Given the description of an element on the screen output the (x, y) to click on. 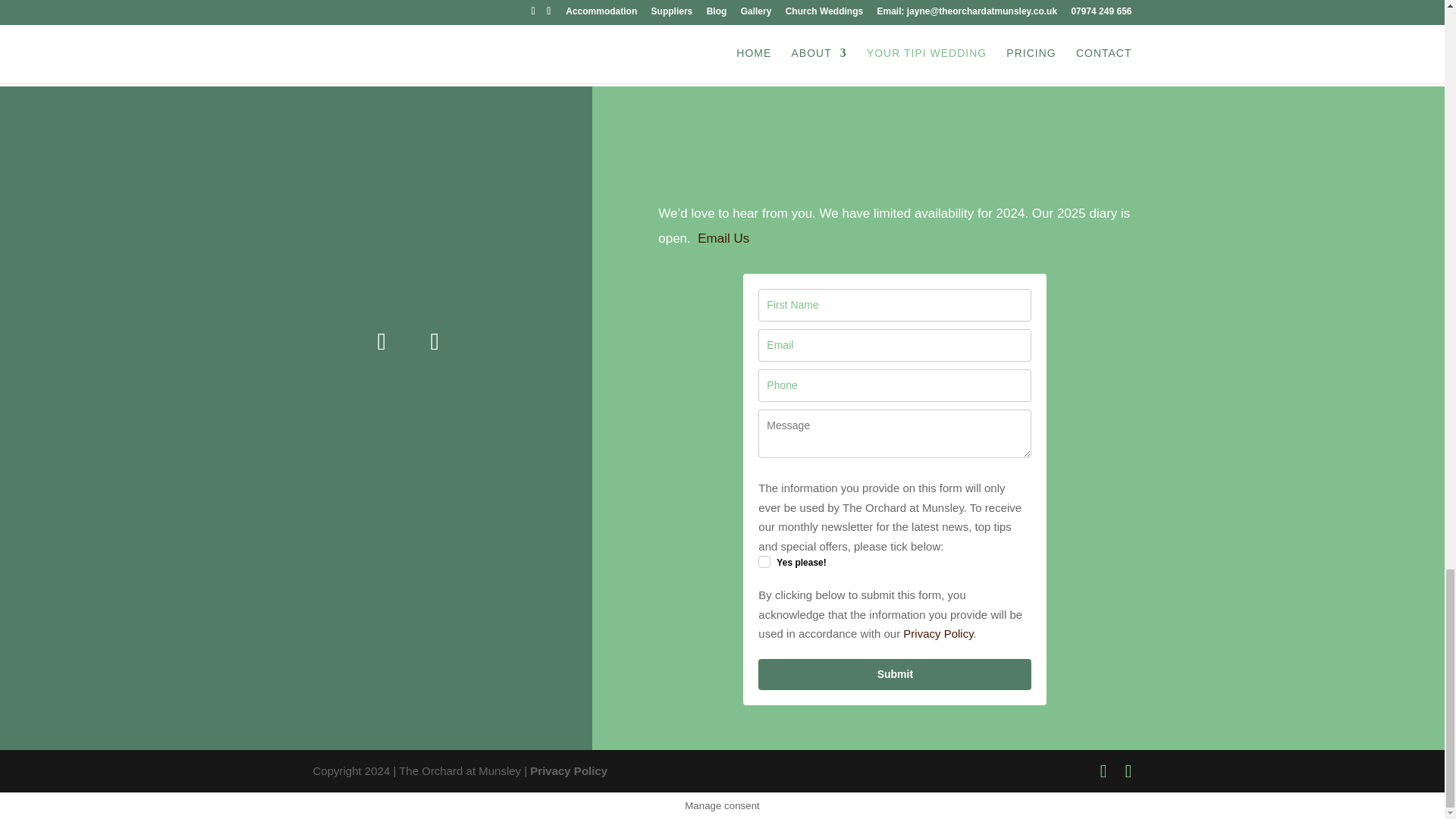
PRICING (722, 12)
Privacy Policy (937, 633)
Privacy Policy (568, 770)
Follow on Instagram (434, 341)
Submit (894, 674)
Follow on Facebook (381, 341)
Email Us (723, 237)
